Given the description of an element on the screen output the (x, y) to click on. 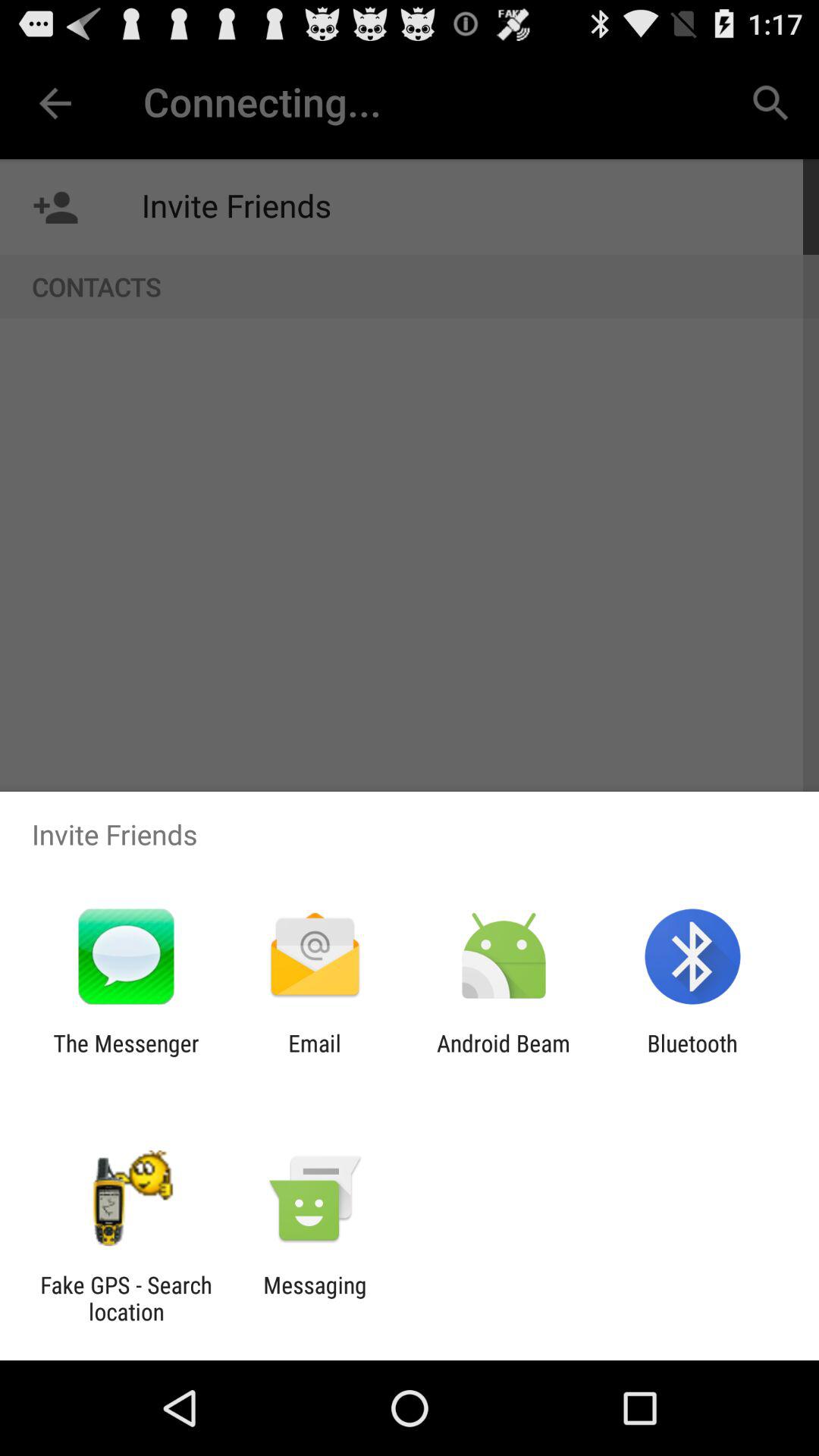
open the app next to the email item (503, 1056)
